Given the description of an element on the screen output the (x, y) to click on. 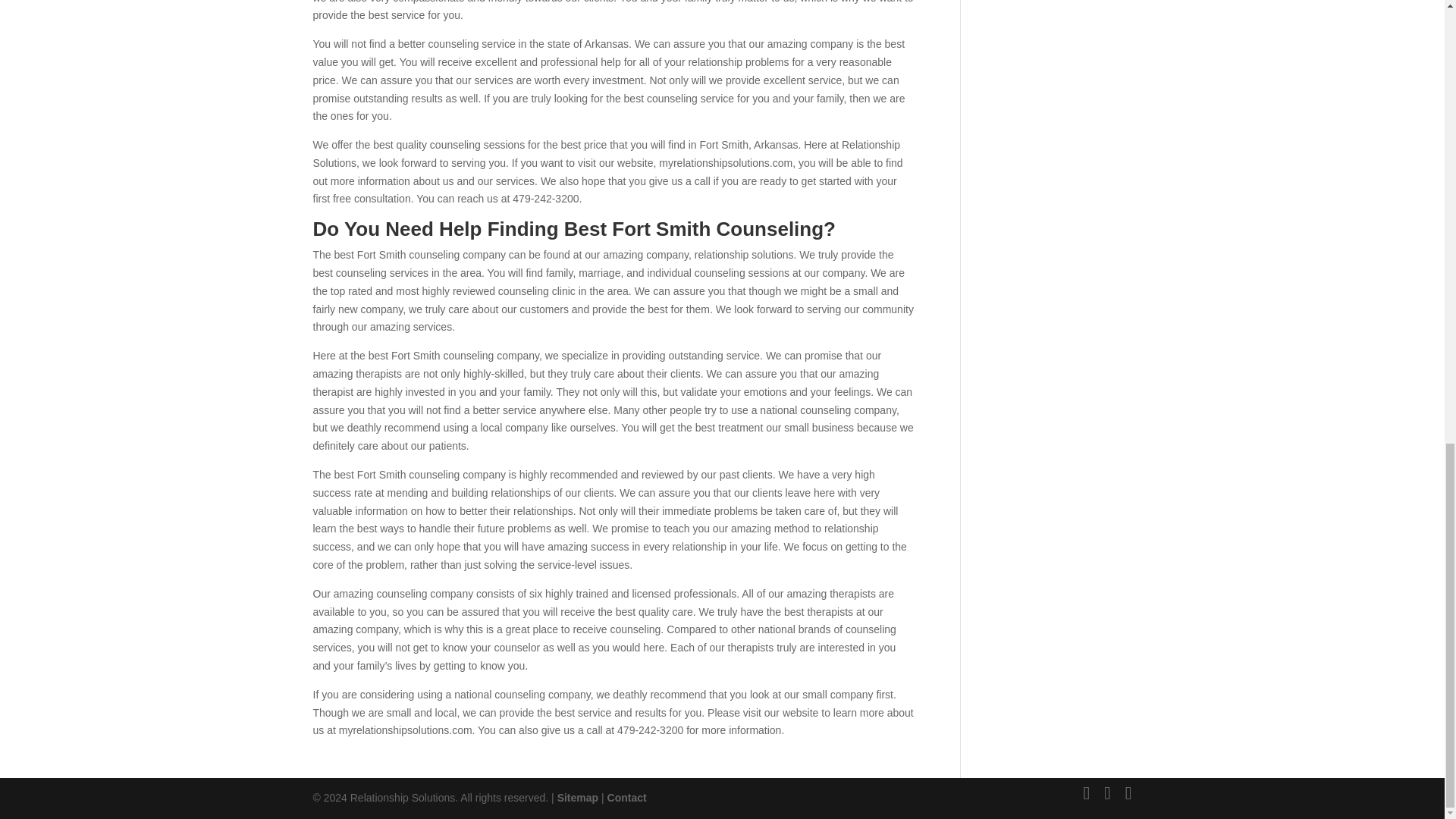
Search (215, 693)
Sitemap (277, 772)
Facebook (53, 719)
Contact (324, 772)
Search (215, 693)
Instagram (54, 747)
YouTube (52, 733)
